Given the description of an element on the screen output the (x, y) to click on. 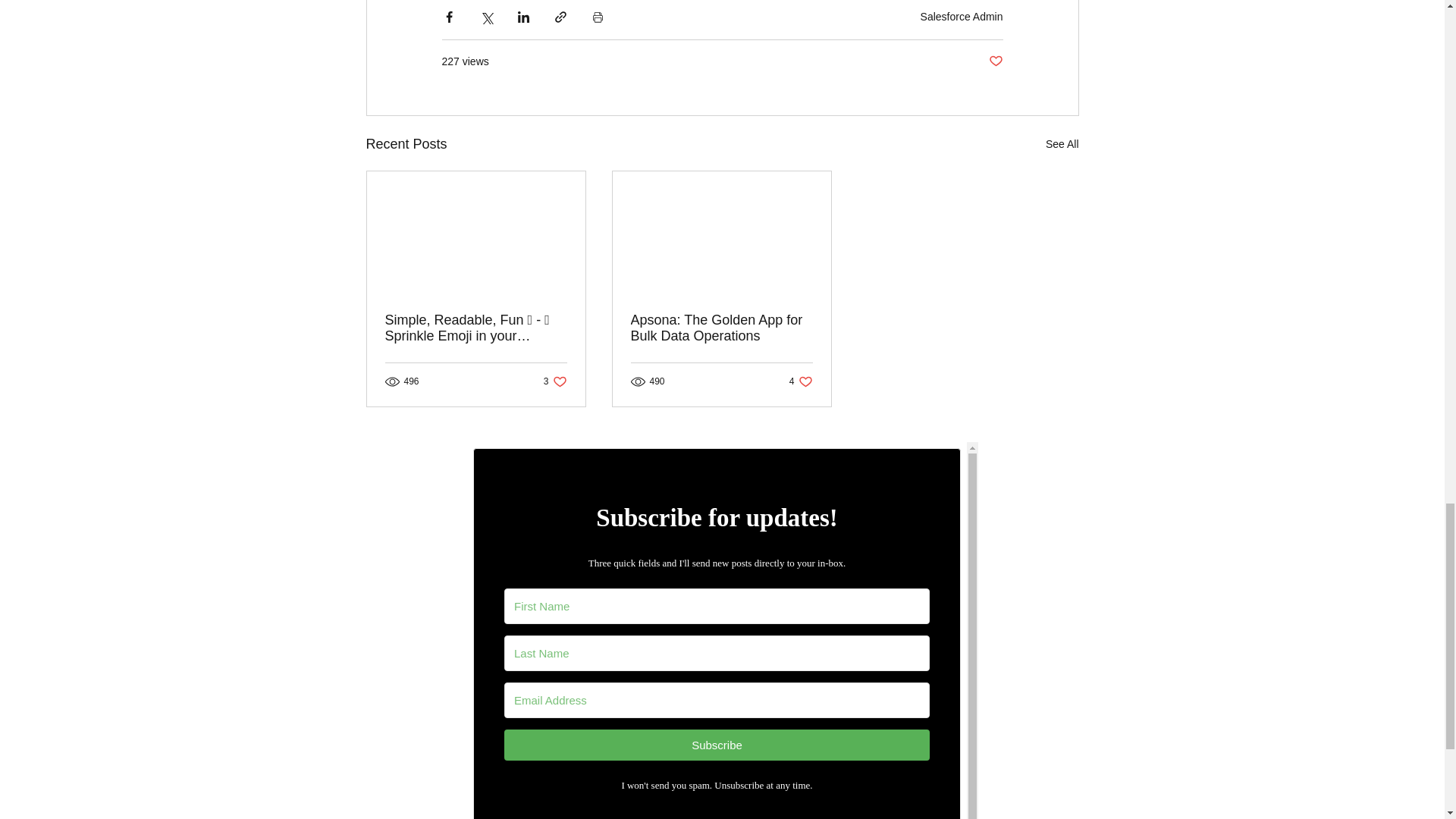
Post not marked as liked (555, 381)
Salesforce Admin (995, 61)
See All (800, 381)
Apsona: The Golden App for Bulk Data Operations (961, 16)
